Given the description of an element on the screen output the (x, y) to click on. 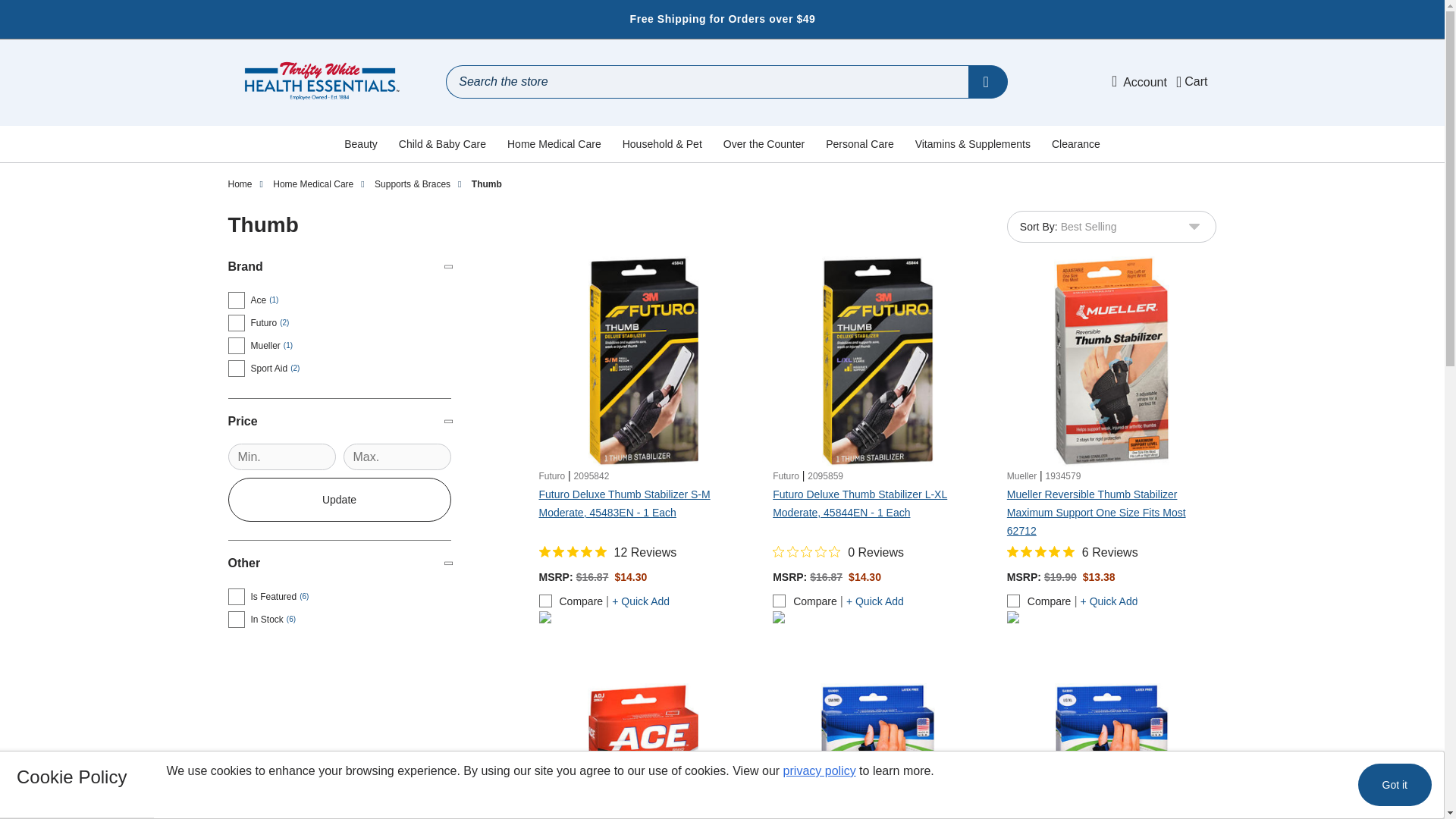
6 Reviews (1072, 552)
Update (338, 499)
0 Reviews (838, 552)
Beauty (360, 144)
12 Reviews (607, 552)
